Given the description of an element on the screen output the (x, y) to click on. 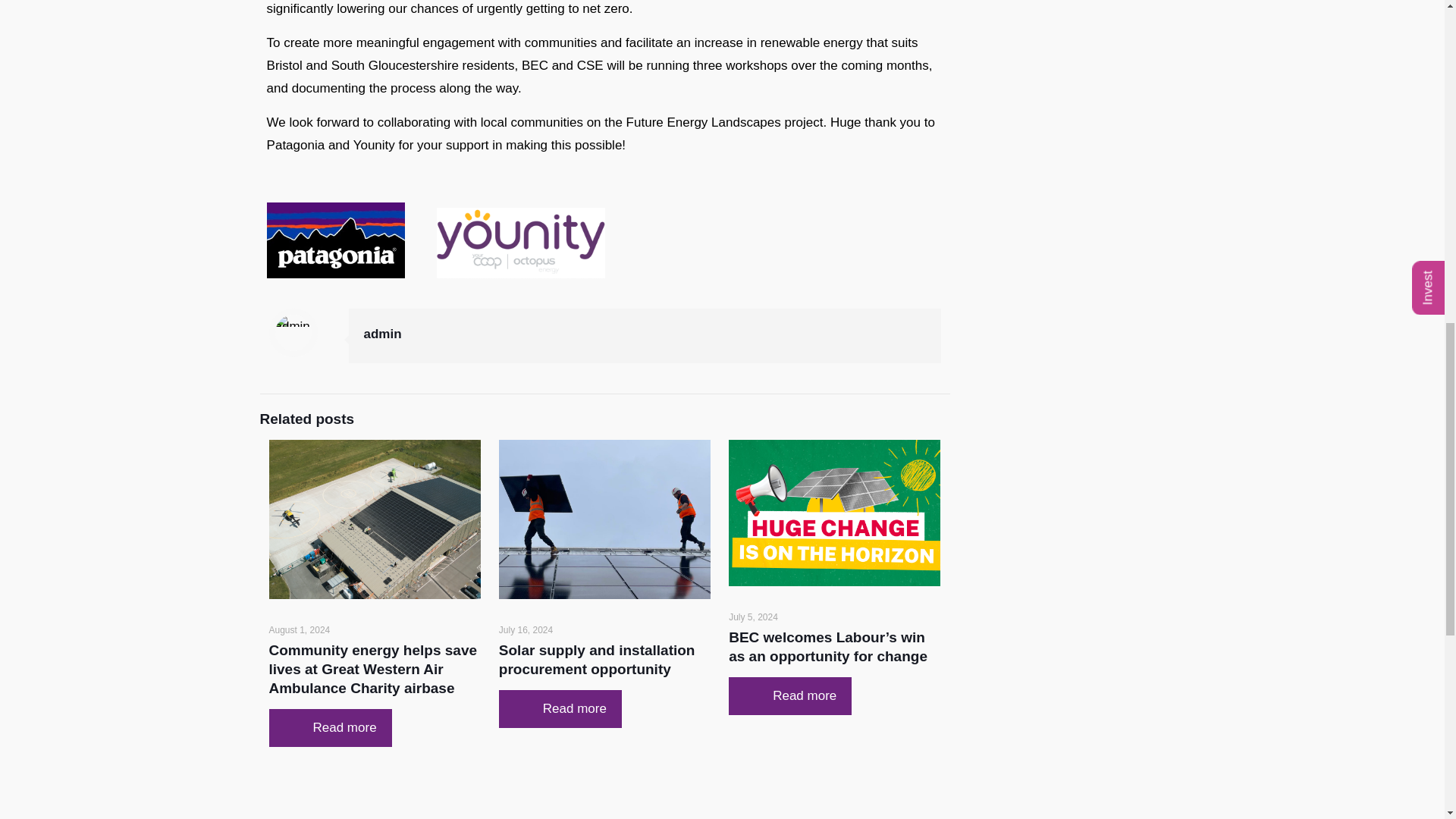
Read more (790, 695)
admin (382, 333)
Read more (560, 709)
Solar supply and installation procurement opportunity (597, 659)
Read more (329, 727)
